Given the description of an element on the screen output the (x, y) to click on. 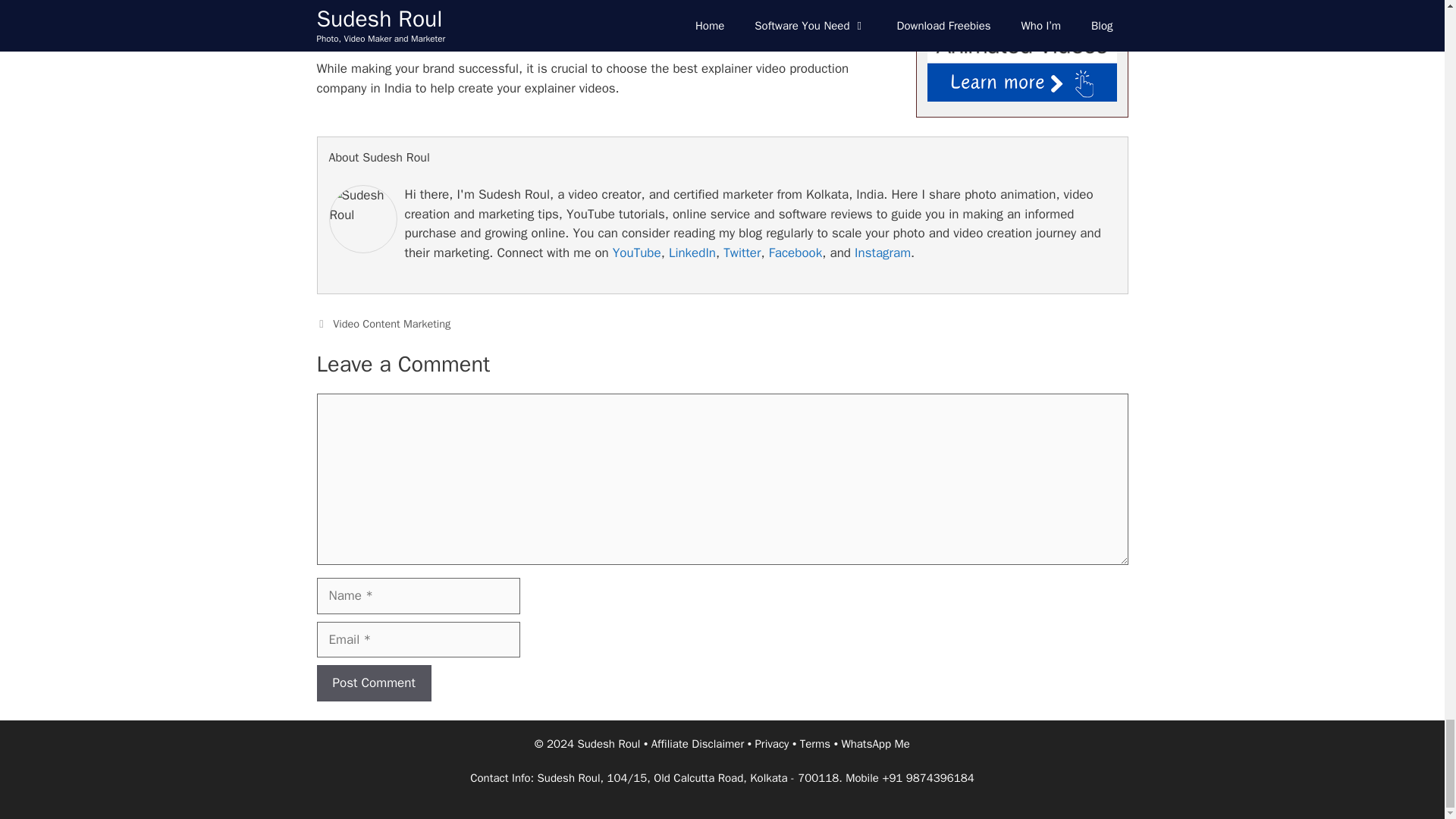
Post Comment (373, 683)
